Given the description of an element on the screen output the (x, y) to click on. 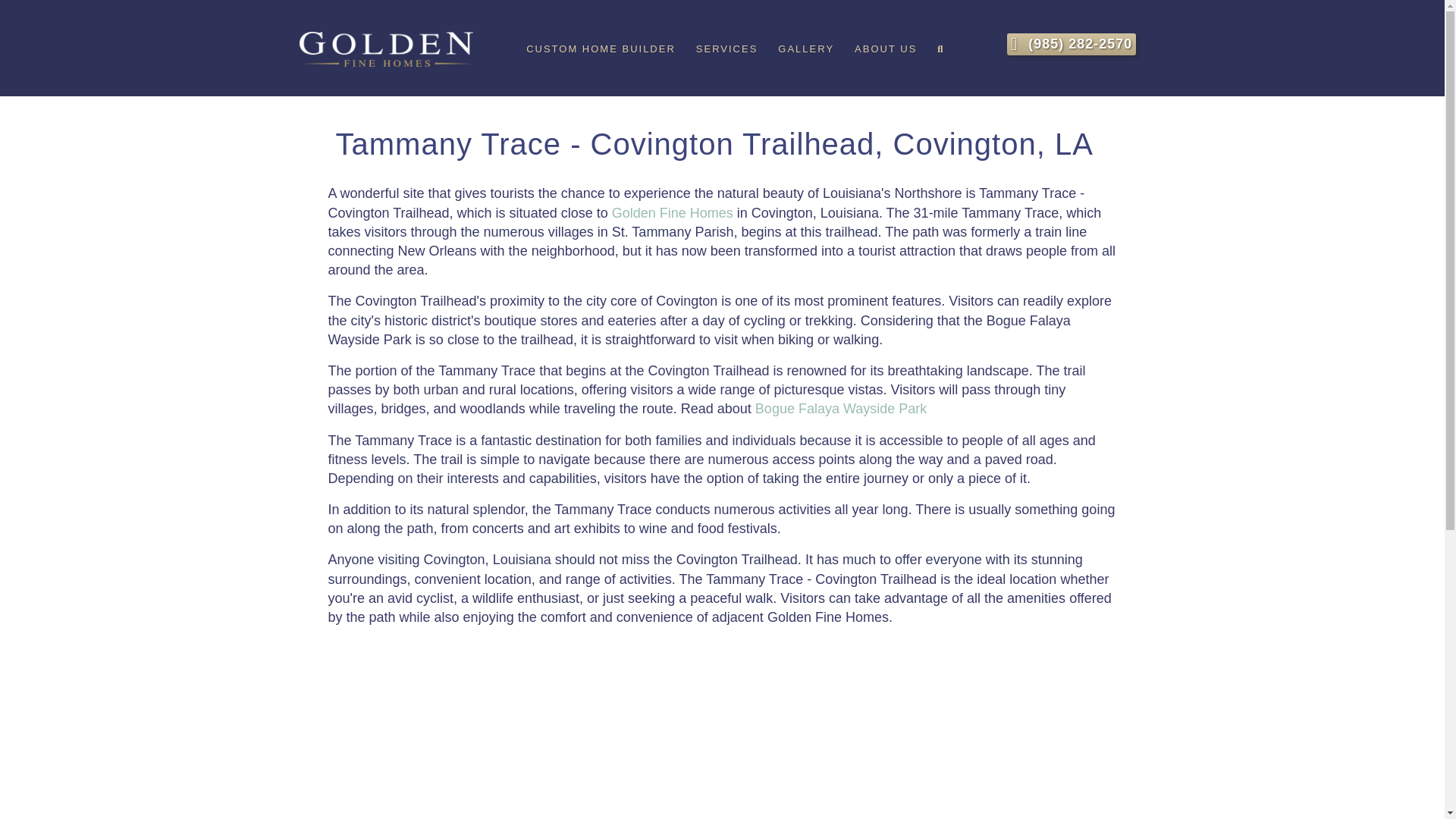
Bogue Falaya Wayside Park (840, 408)
Golden Fine Homes (672, 212)
CUSTOM HOME BUILDER (600, 49)
ABOUT US (885, 49)
GALLERY (805, 49)
golden-fine-homes-logo-white-gold (385, 48)
SERVICES (726, 49)
